Given the description of an element on the screen output the (x, y) to click on. 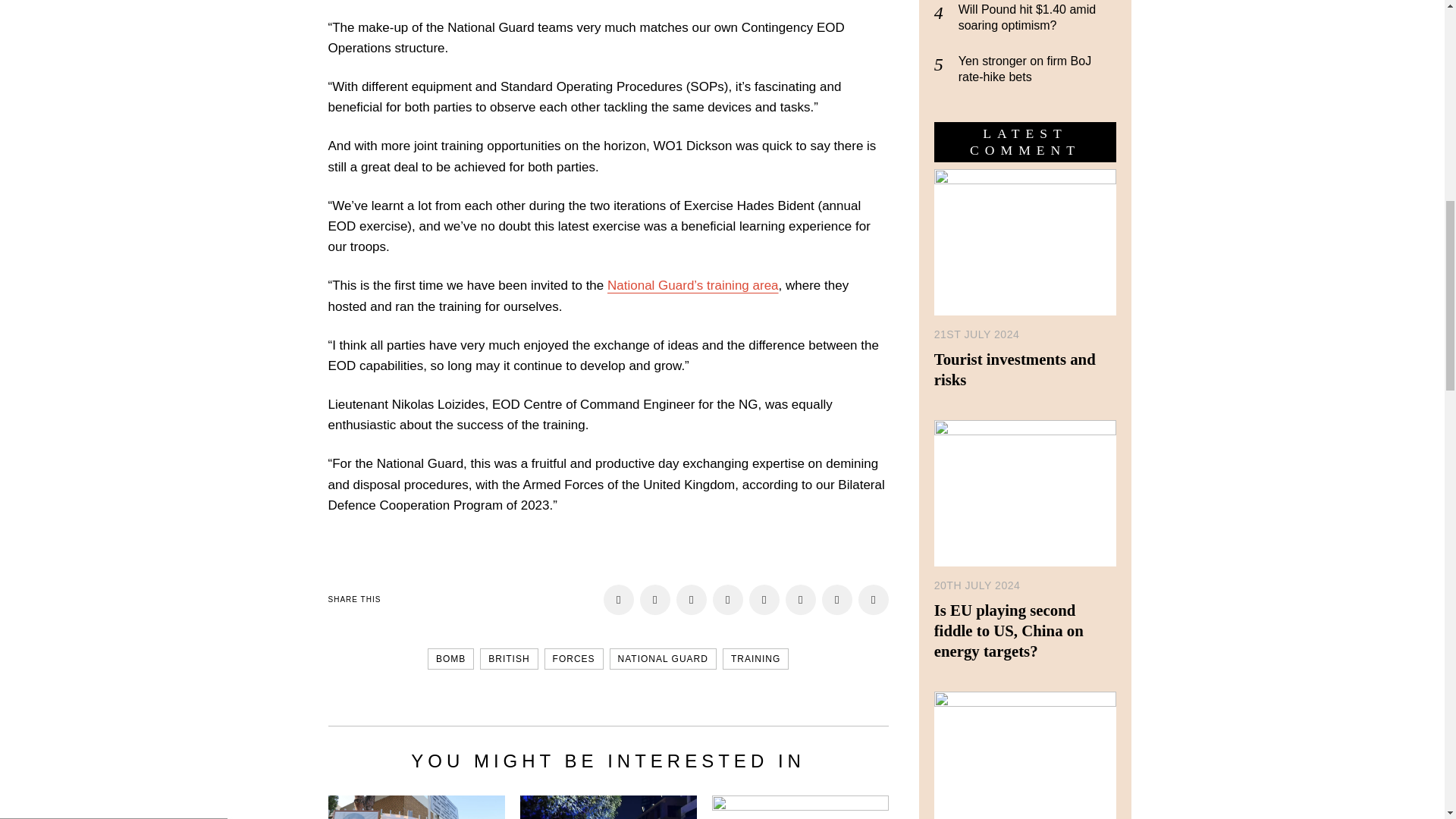
Email (836, 599)
Linkedin (763, 599)
Pinterest (727, 599)
Whatsapp (800, 599)
Reddit (873, 599)
Twitter (691, 599)
Facebook (618, 599)
Messenger (1396, 20)
